Given the description of an element on the screen output the (x, y) to click on. 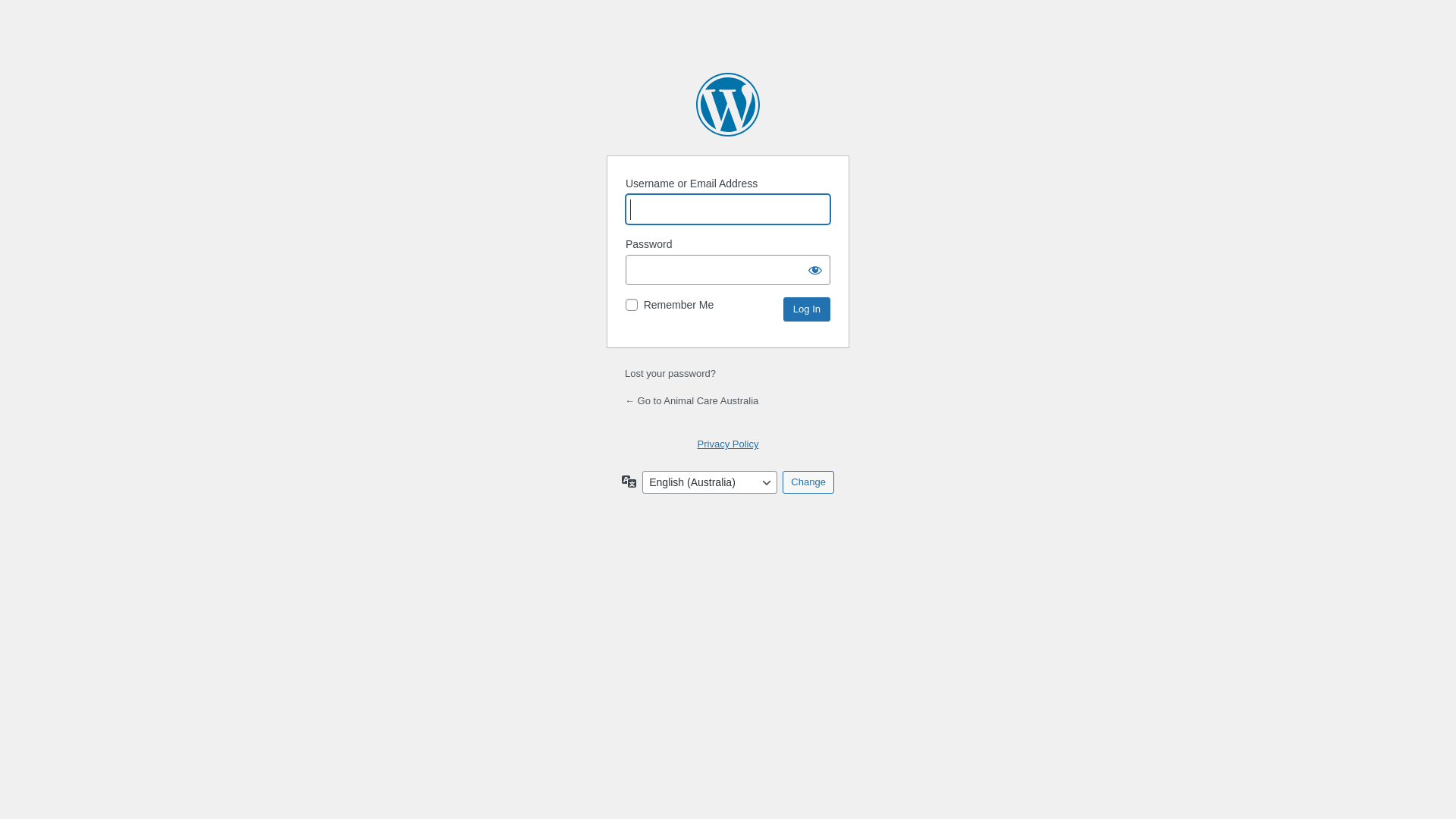
Lost your password? Element type: text (669, 373)
Change Element type: text (808, 481)
Privacy Policy Element type: text (728, 443)
Powered by WordPress Element type: text (727, 104)
Log In Element type: text (806, 309)
